Given the description of an element on the screen output the (x, y) to click on. 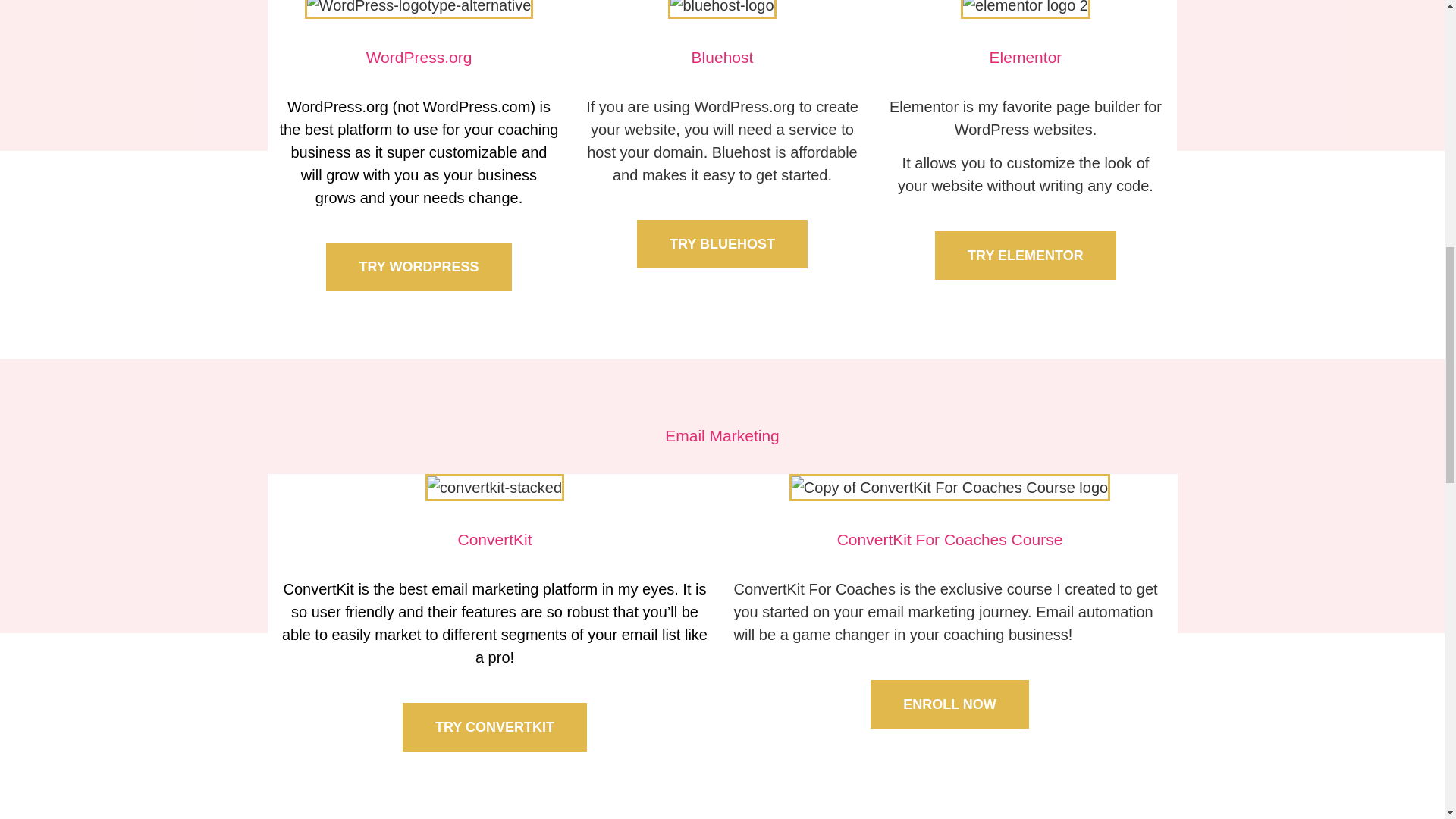
convertkit-stacked (494, 487)
elementor logo 2 (1025, 9)
TRY ELEMENTOR (1025, 255)
TRY CONVERTKIT (494, 726)
TRY BLUEHOST (722, 244)
TRY WORDPRESS (418, 266)
bluehost-logo (722, 9)
Copy of ConvertKit For Coaches Course logo (949, 487)
WordPress-logotype-alternative (419, 9)
ENROLL NOW (949, 704)
